Given the description of an element on the screen output the (x, y) to click on. 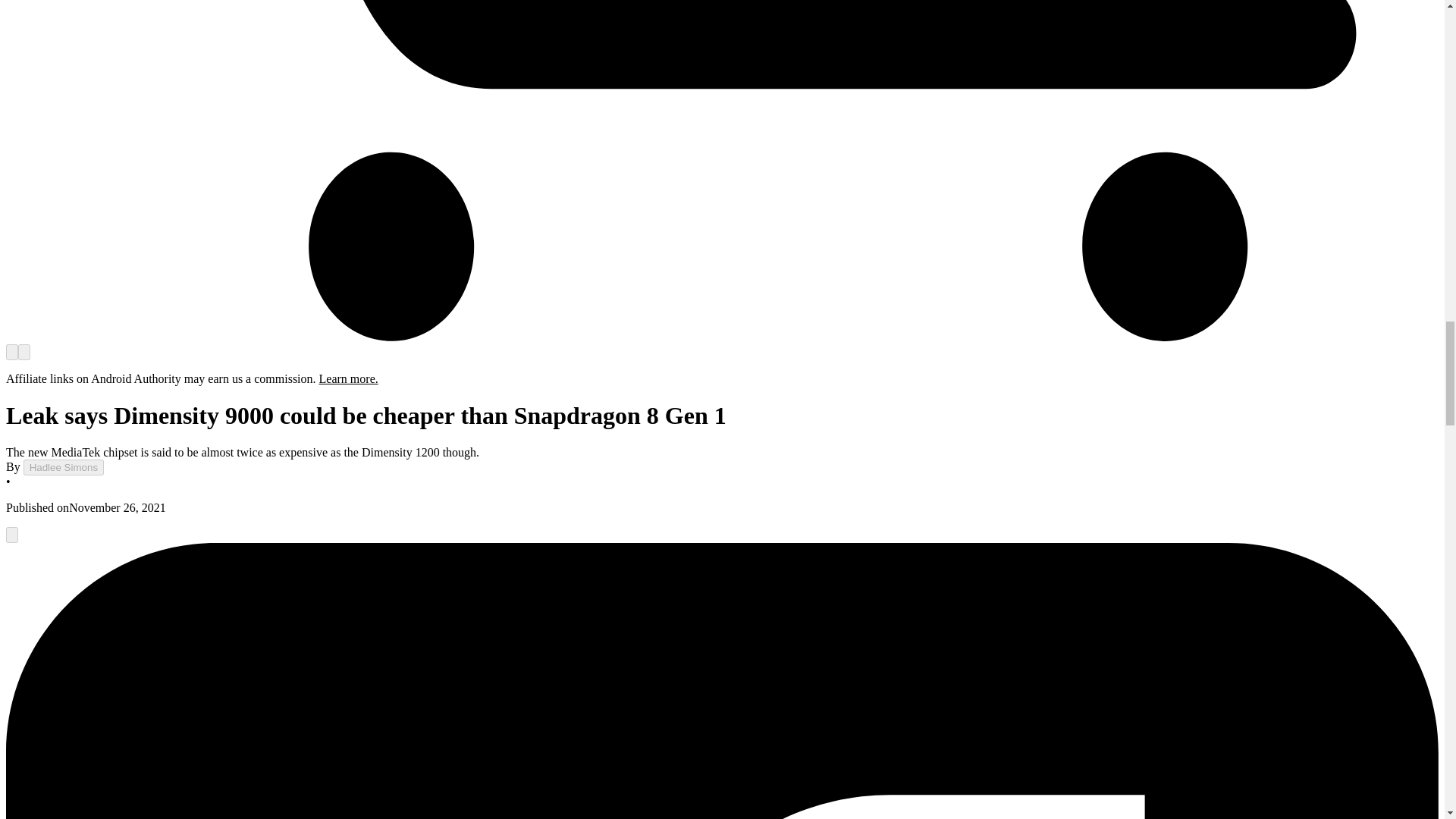
Hadlee Simons (63, 467)
Learn more. (348, 378)
